Given the description of an element on the screen output the (x, y) to click on. 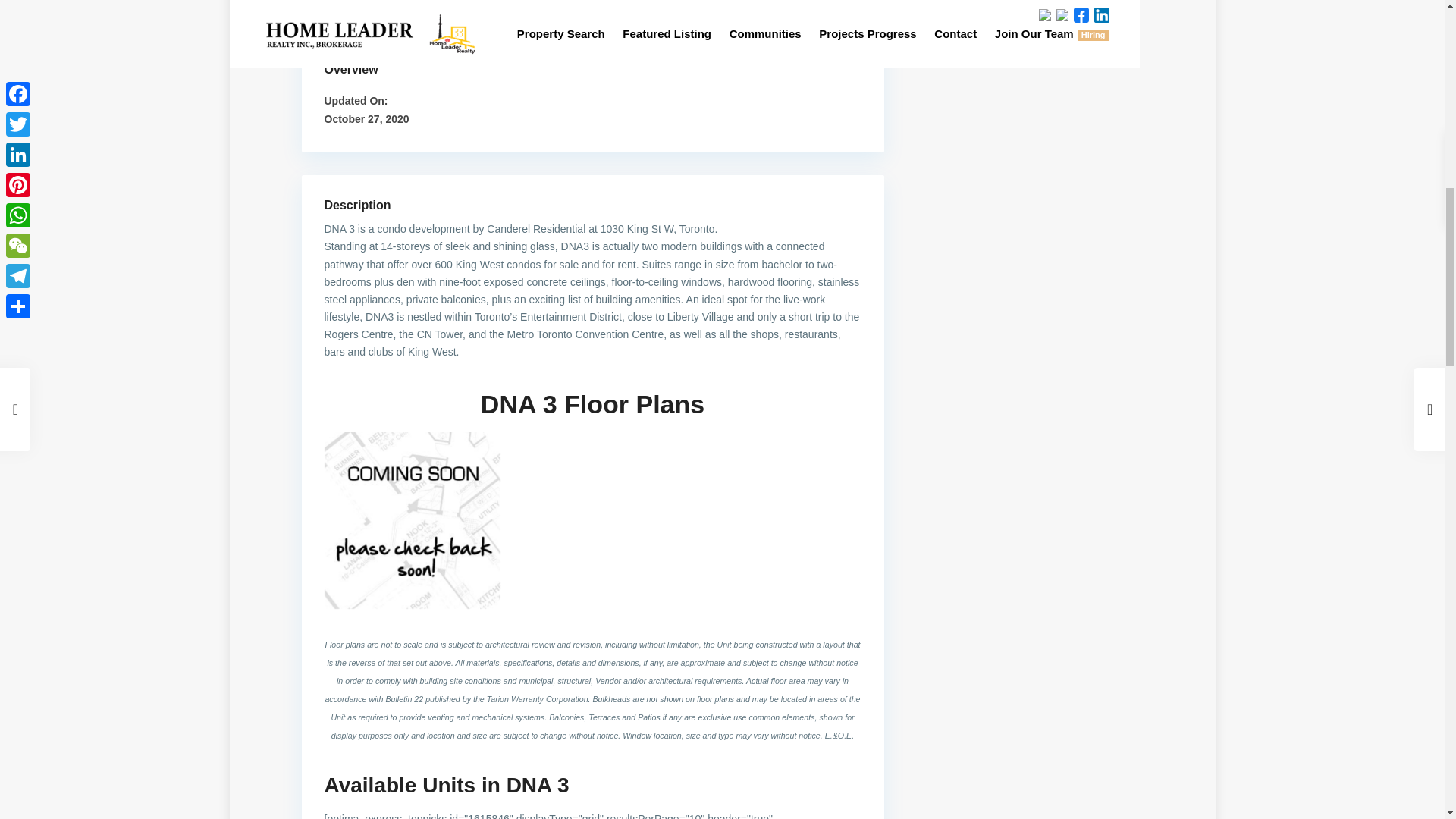
coming-soon (412, 520)
